Given the description of an element on the screen output the (x, y) to click on. 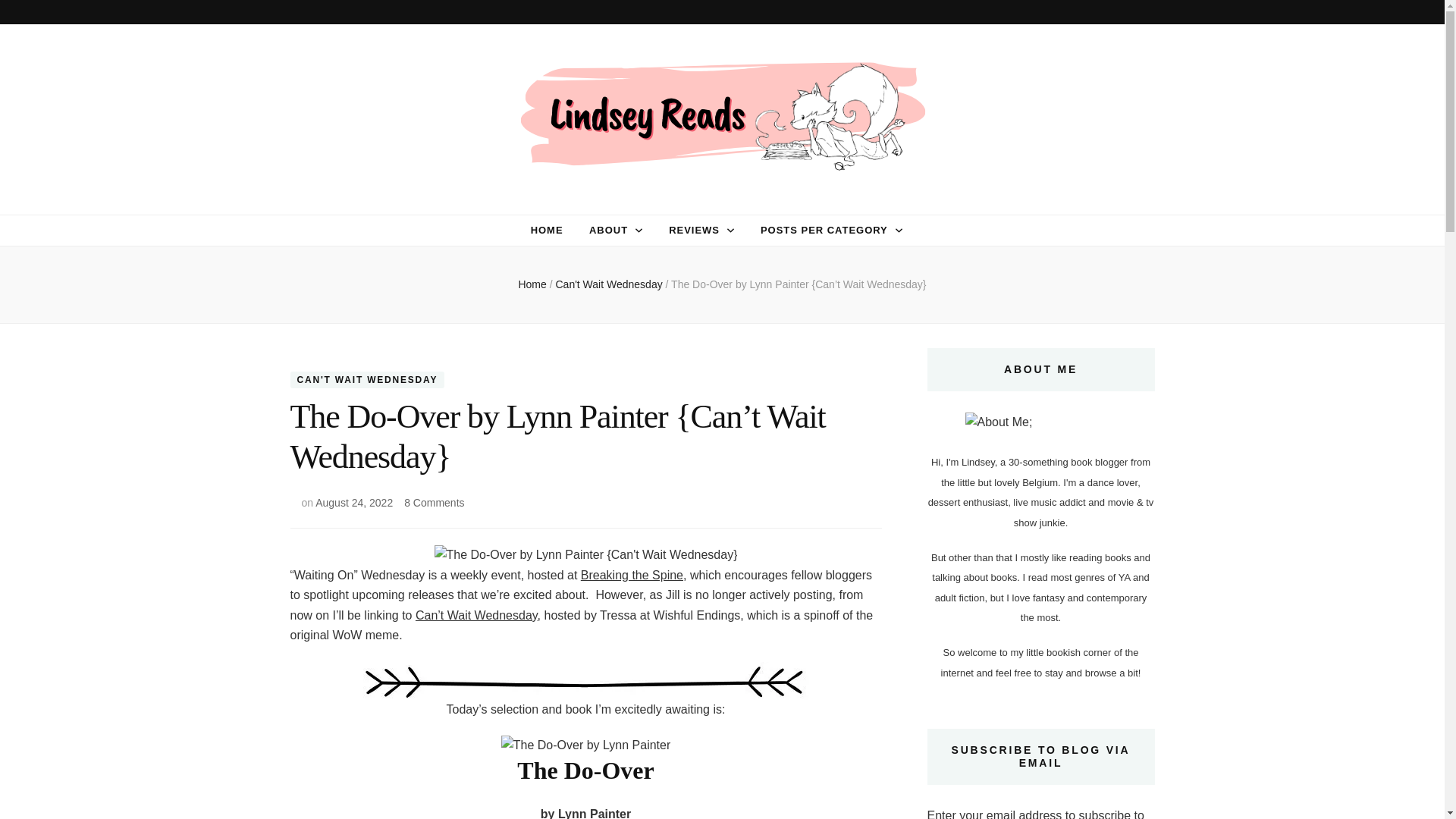
Lindsey Reads (424, 201)
Breaking the Spine (631, 574)
REVIEWS (693, 230)
Can't Wait Wednesday (609, 284)
POSTS PER CATEGORY (824, 230)
Home (532, 284)
CAN'T WAIT WEDNESDAY (366, 379)
ABOUT (608, 230)
August 24, 2022 (354, 502)
HOME (547, 230)
